Given the description of an element on the screen output the (x, y) to click on. 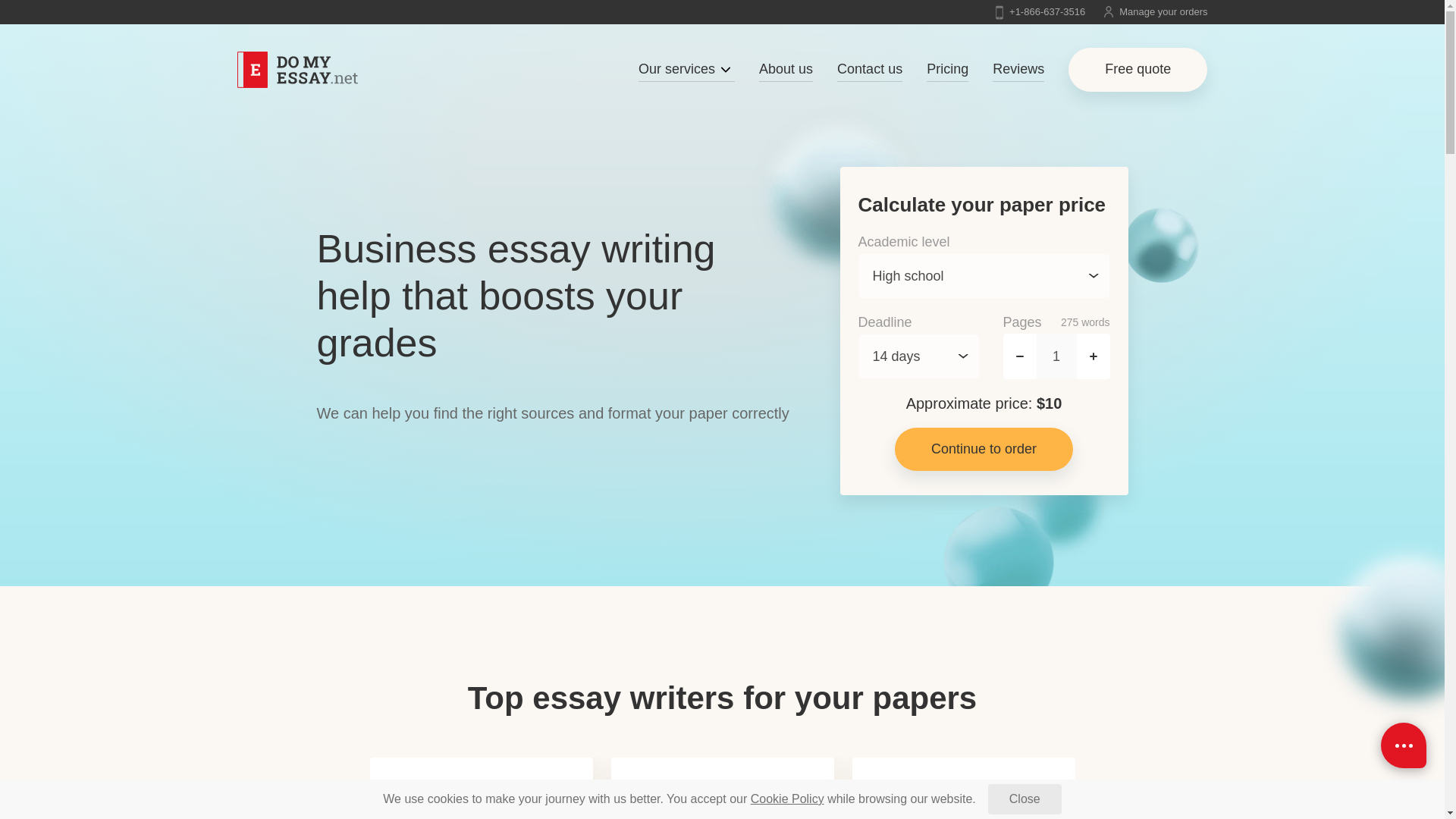
Manage your orders (1155, 11)
Continue to order (984, 448)
About us (785, 69)
Pricing (947, 69)
Reviews (1017, 69)
Free quote (1137, 69)
Contact us (869, 69)
